Given the description of an element on the screen output the (x, y) to click on. 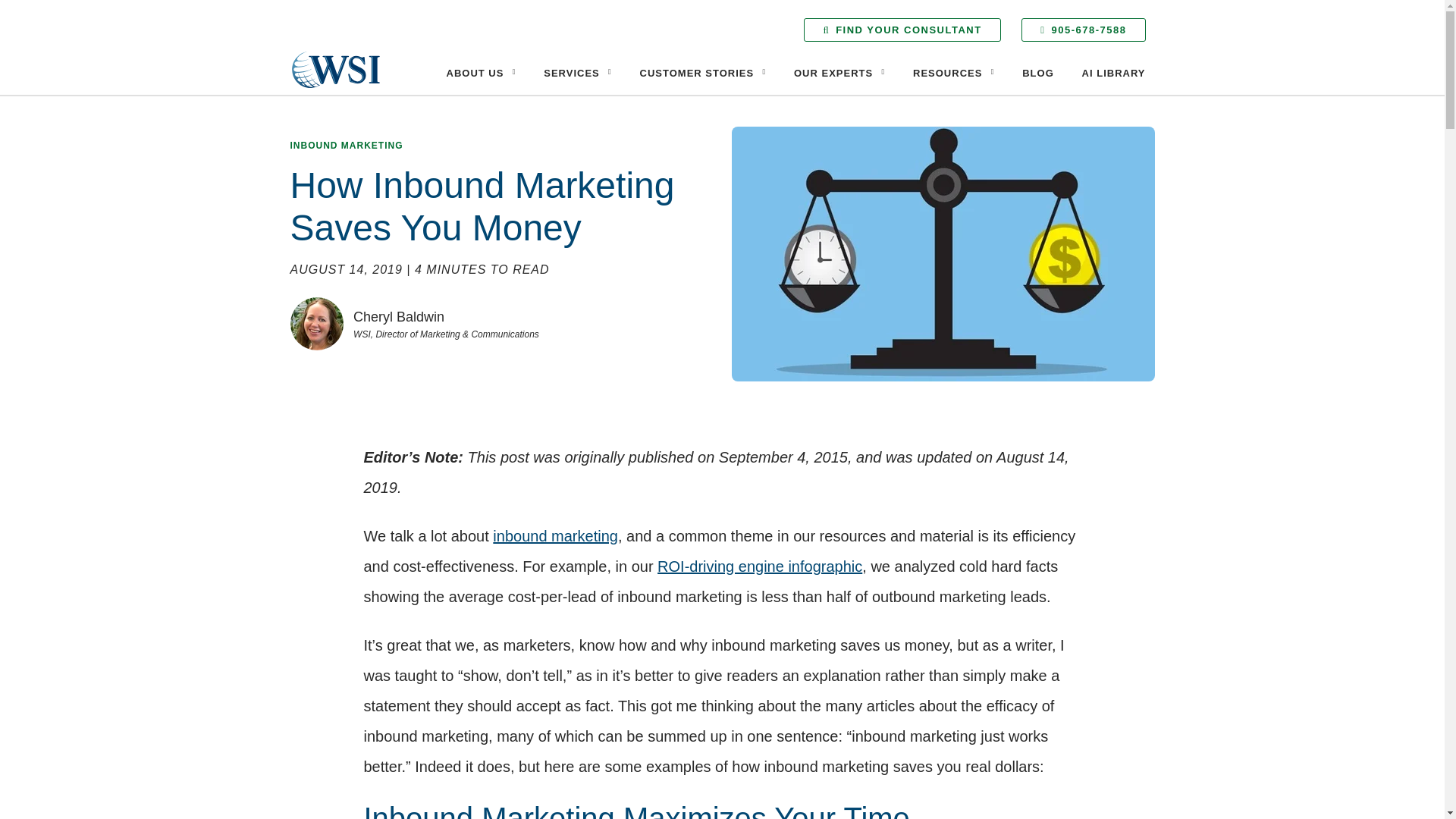
905-678-7588 (1083, 29)
inbound marketing (555, 535)
ROI-driving engine infographic (759, 565)
BLOG (1037, 73)
AI LIBRARY (1113, 73)
FIND YOUR CONSULTANT (901, 29)
ABOUT US (480, 73)
INBOUND MARKETING (346, 145)
WSI Logo (334, 69)
